Given the description of an element on the screen output the (x, y) to click on. 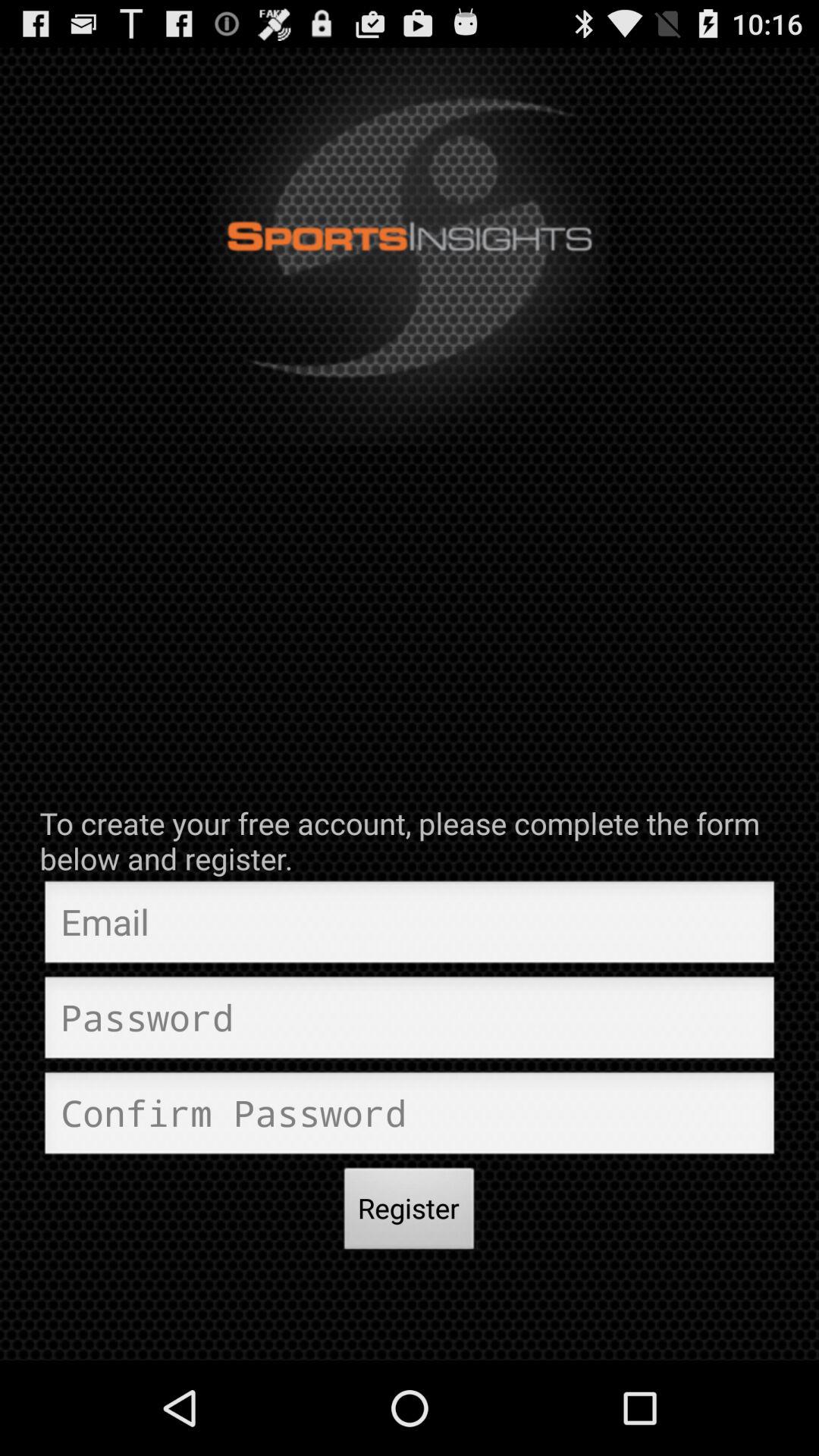
go to password option (409, 1021)
